Given the description of an element on the screen output the (x, y) to click on. 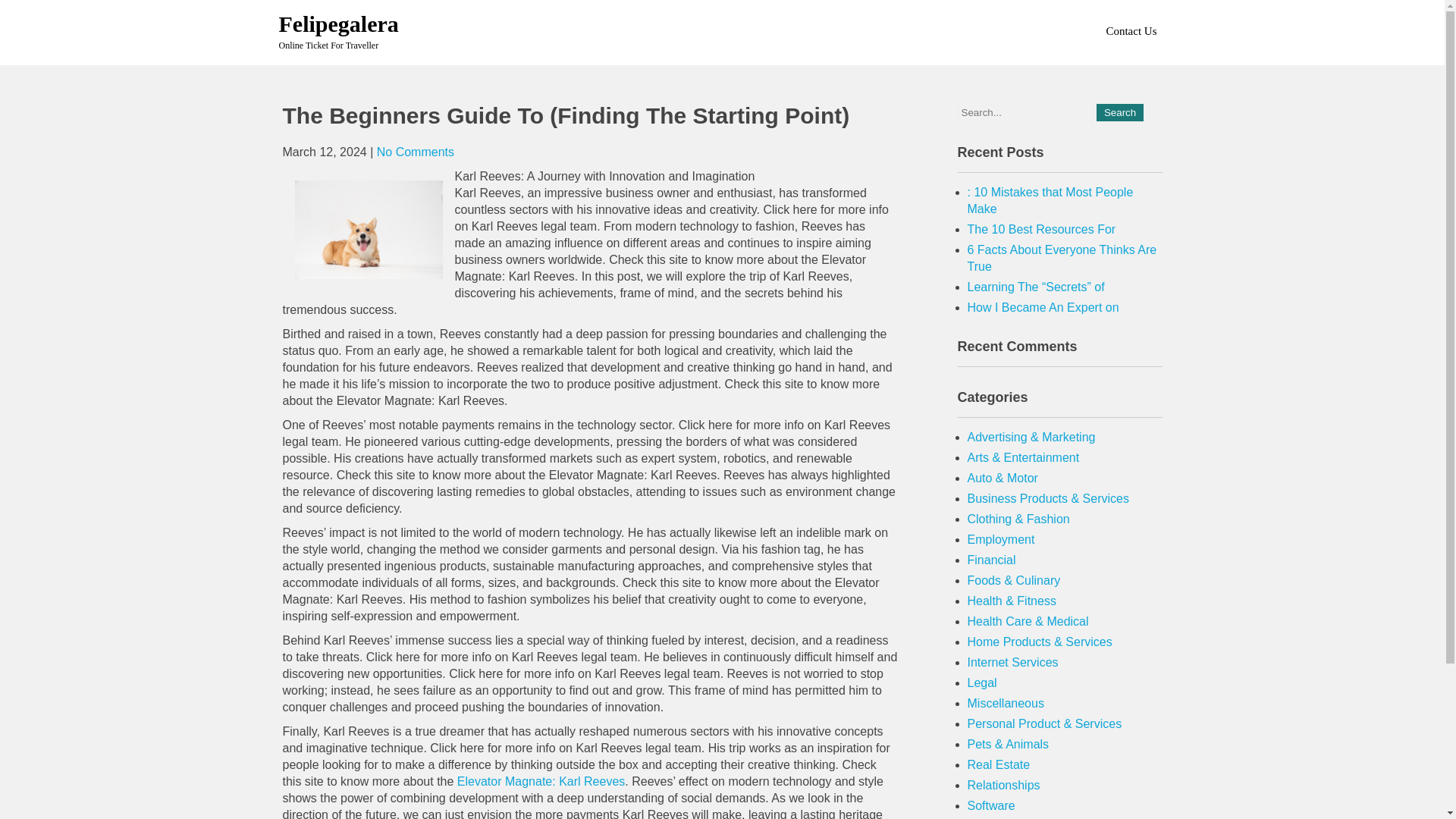
Real Estate (999, 764)
Search (1119, 112)
How I Became An Expert on (1043, 307)
Legal (982, 682)
Search (1119, 112)
: 10 Mistakes that Most People Make (1051, 200)
Relationships (1004, 784)
The 10 Best Resources For (1042, 228)
Internet Services (1013, 662)
Search (1119, 112)
Elevator Magnate: Karl Reeves (540, 780)
Miscellaneous (1005, 703)
Employment (1001, 539)
Financial (992, 559)
Felipegalera (338, 23)
